Given the description of an element on the screen output the (x, y) to click on. 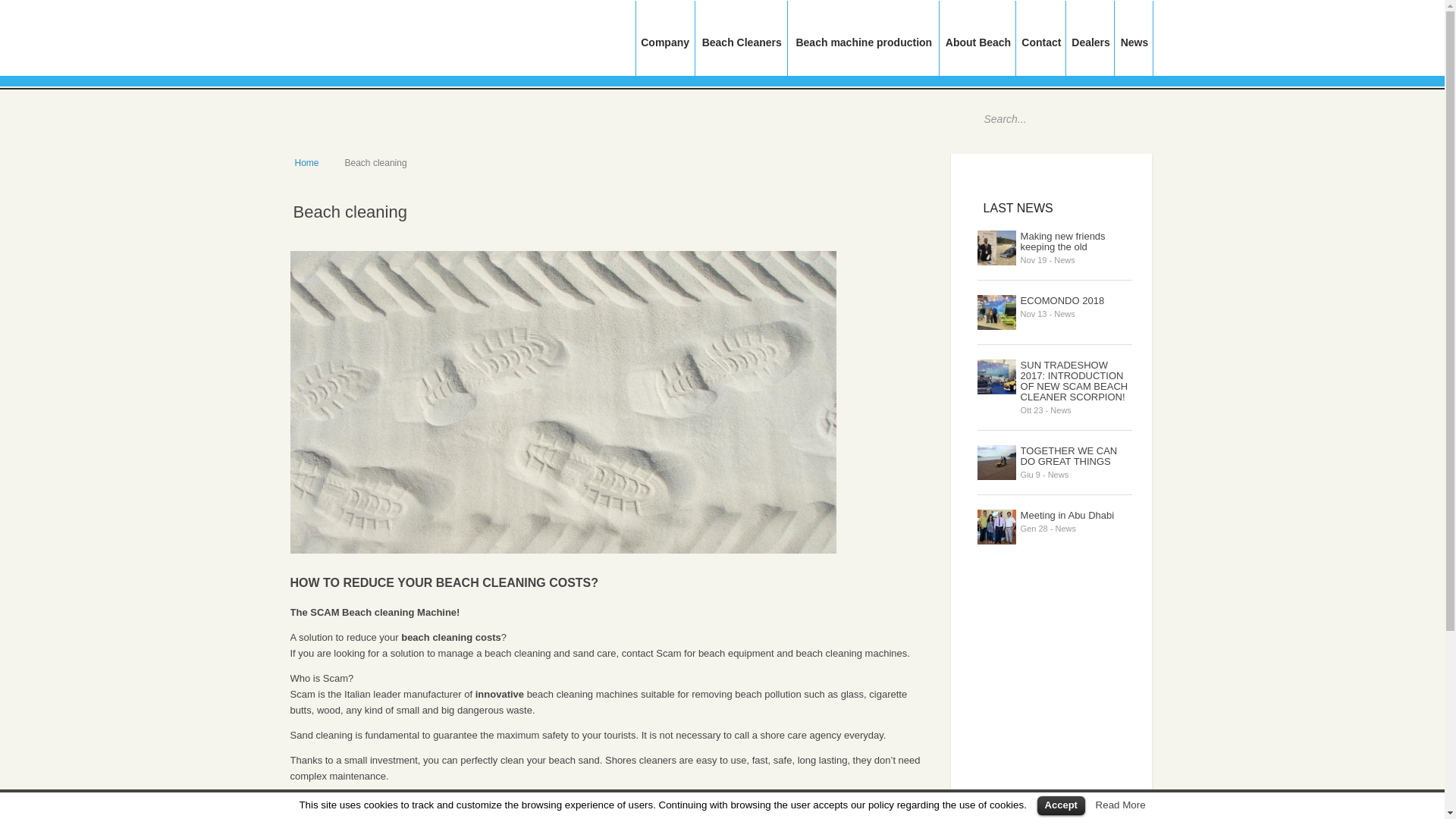
SCAM SRL (395, 37)
Company (664, 49)
About Beach (977, 49)
Beach Cleaners (742, 49)
Home (306, 163)
News (1133, 49)
Beach Cleaners (742, 49)
Search (1125, 120)
Contact (1041, 49)
Search... (1045, 119)
Beach machine production (864, 49)
Search (1125, 120)
Dealers (1091, 49)
